Given the description of an element on the screen output the (x, y) to click on. 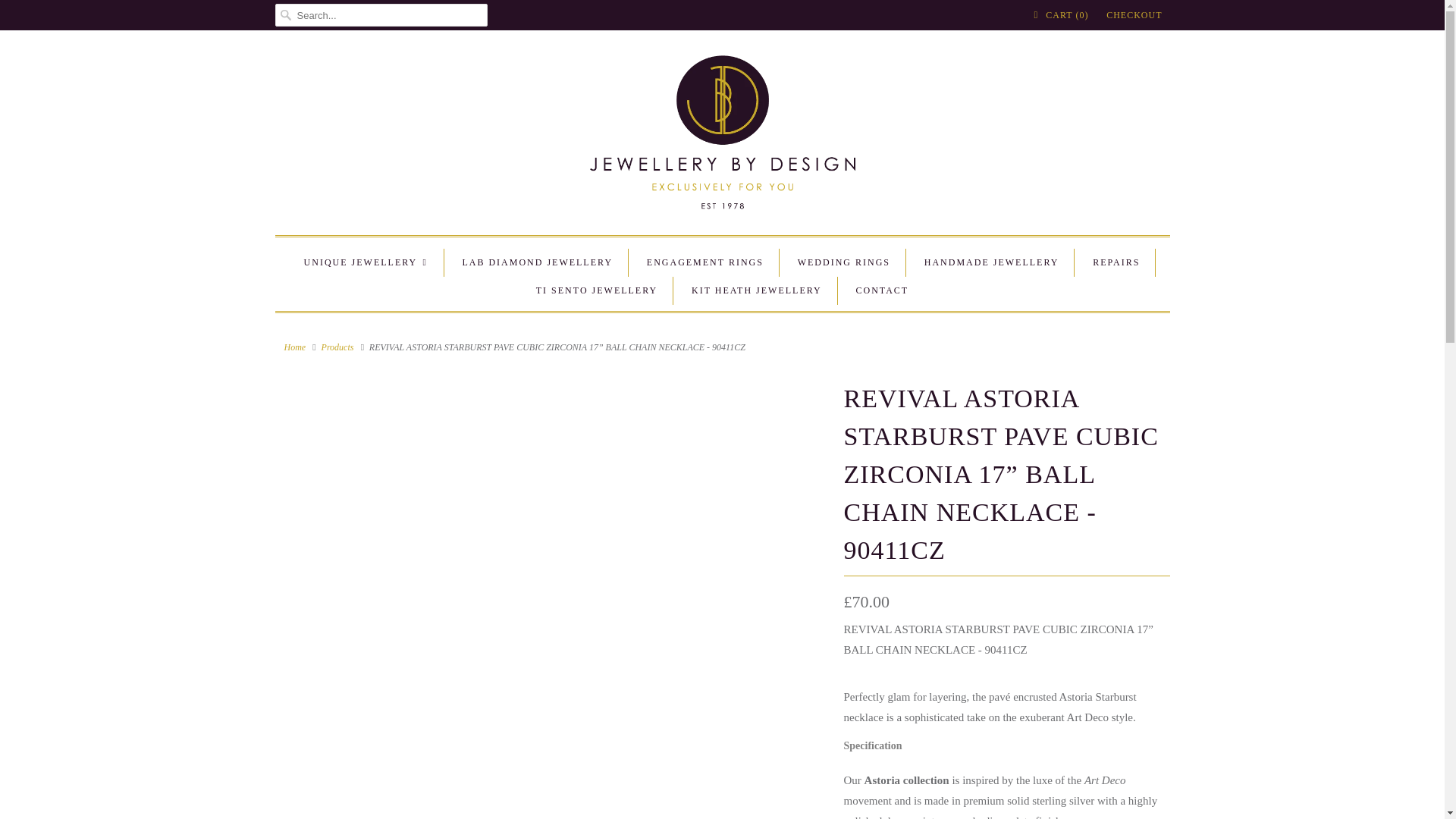
Jewellerybydesign.com (294, 347)
HANDMADE JEWELLERY (991, 262)
KIT HEATH JEWELLERY (756, 290)
LAB DIAMOND JEWELLERY (536, 262)
CHECKOUT (1133, 15)
Products (337, 347)
CONTACT (882, 290)
Home (294, 347)
Jewellerybydesign.com (722, 136)
REPAIRS (1116, 262)
